Given the description of an element on the screen output the (x, y) to click on. 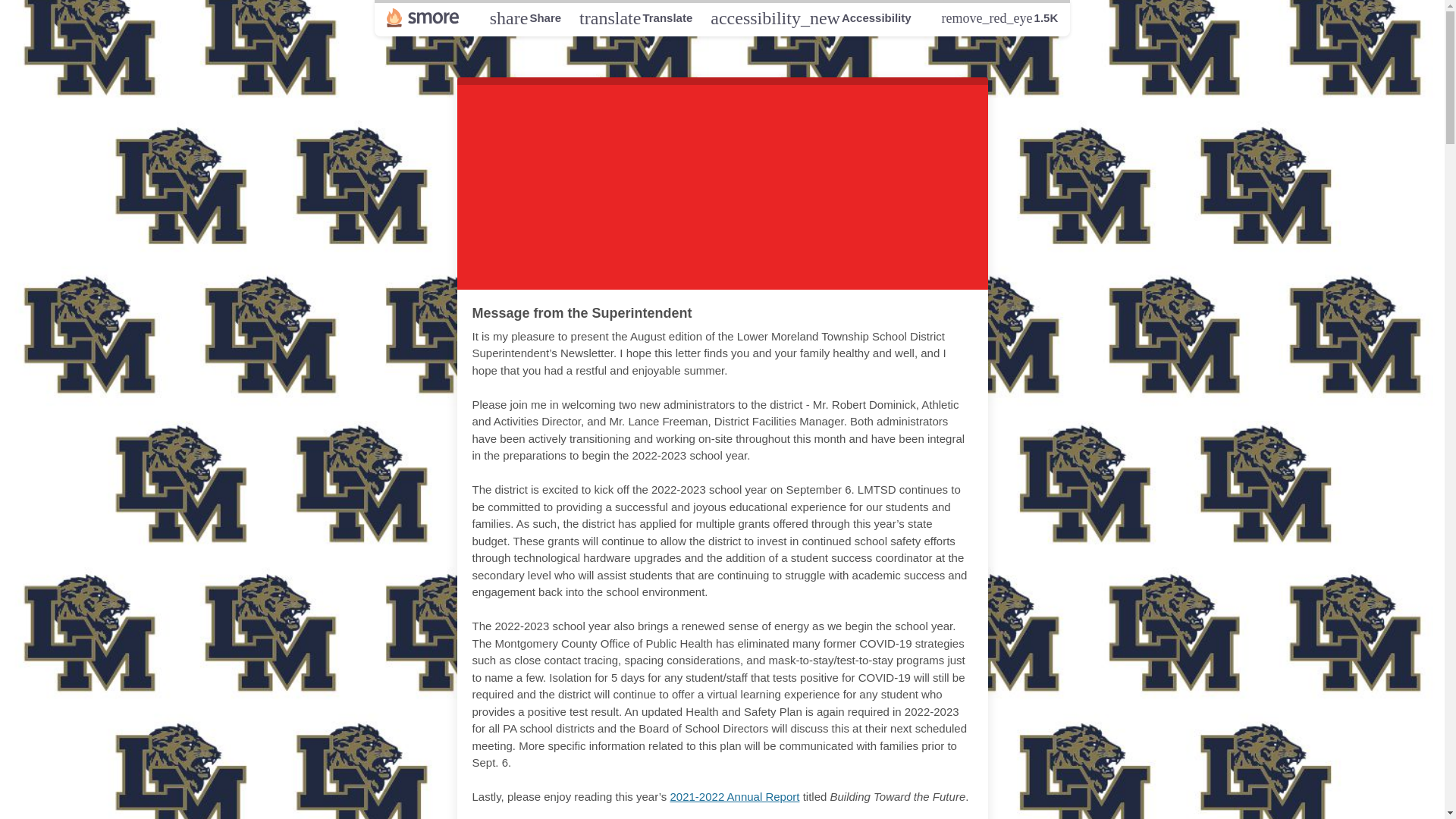
2021-2022 Annual Report (524, 18)
